Given the description of an element on the screen output the (x, y) to click on. 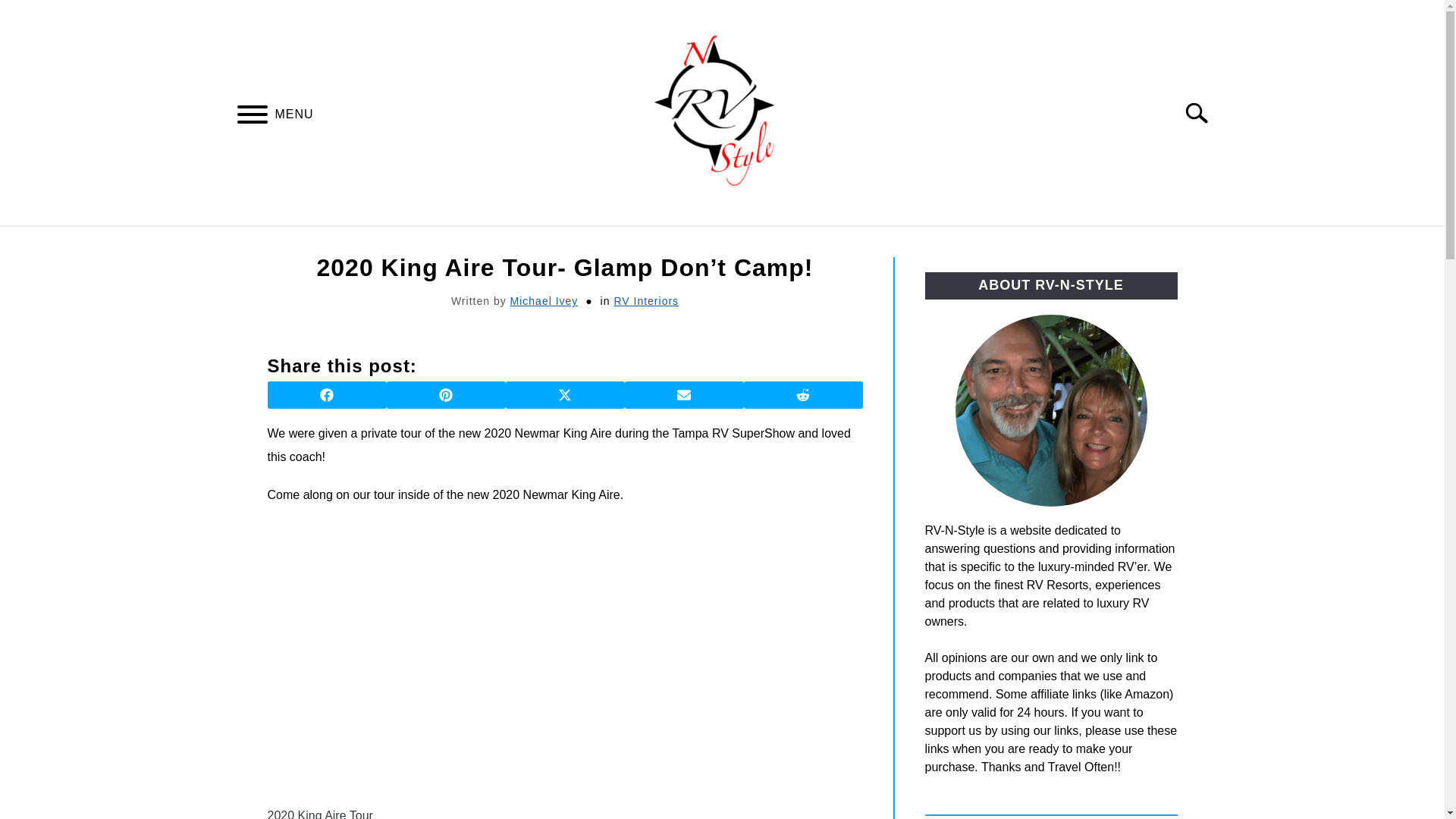
Newmar King Aire Inside Tour (509, 658)
MENU (251, 116)
Search (1203, 112)
